Given the description of an element on the screen output the (x, y) to click on. 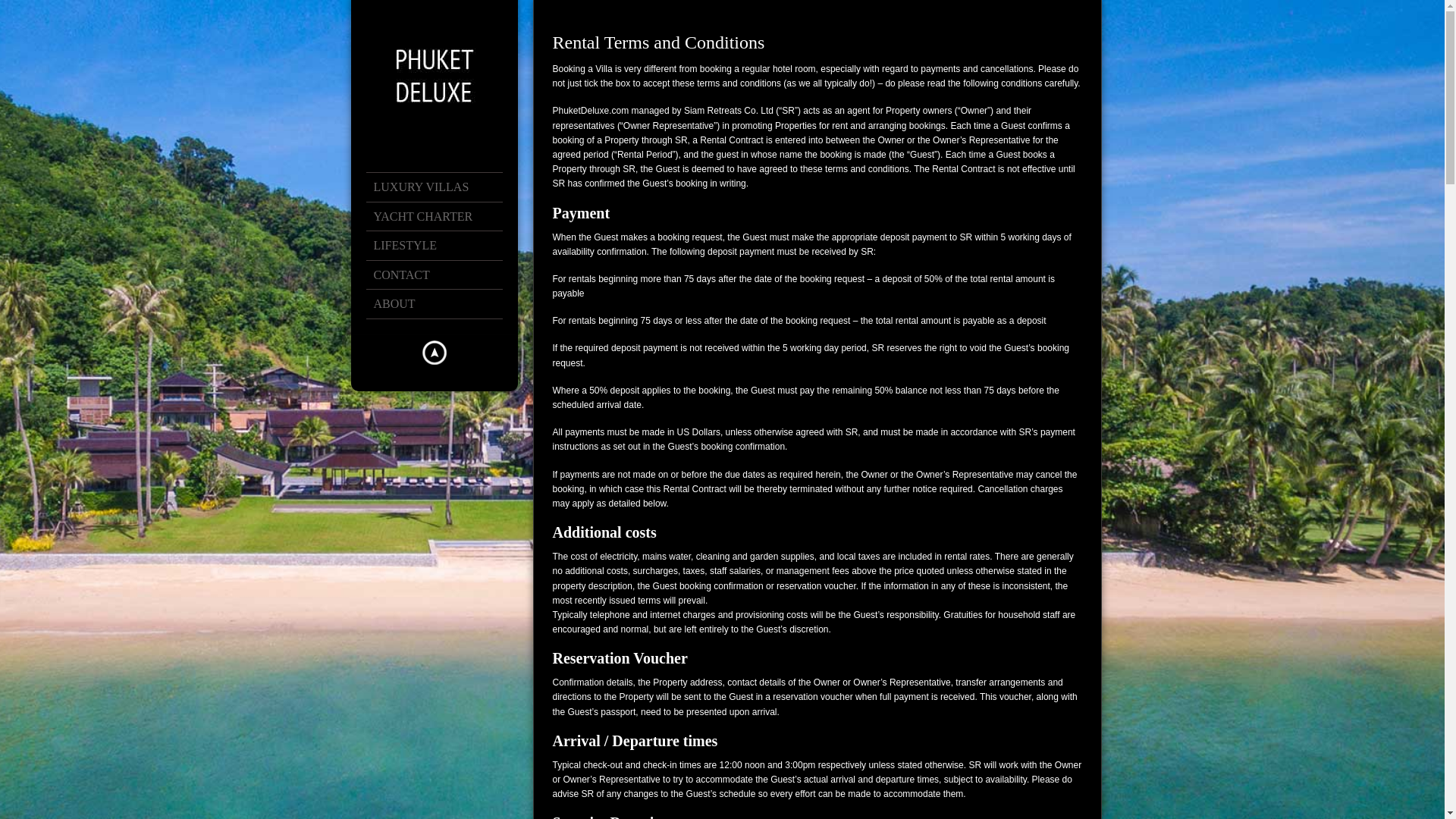
PhuketDeluxe.com (589, 110)
LUXURY VILLAS (440, 187)
ABOUT (440, 304)
YACHT CHARTER (440, 216)
LIFESTYLE (440, 245)
Phuket Deluxe (433, 75)
CONTACT (440, 274)
